Given the description of an element on the screen output the (x, y) to click on. 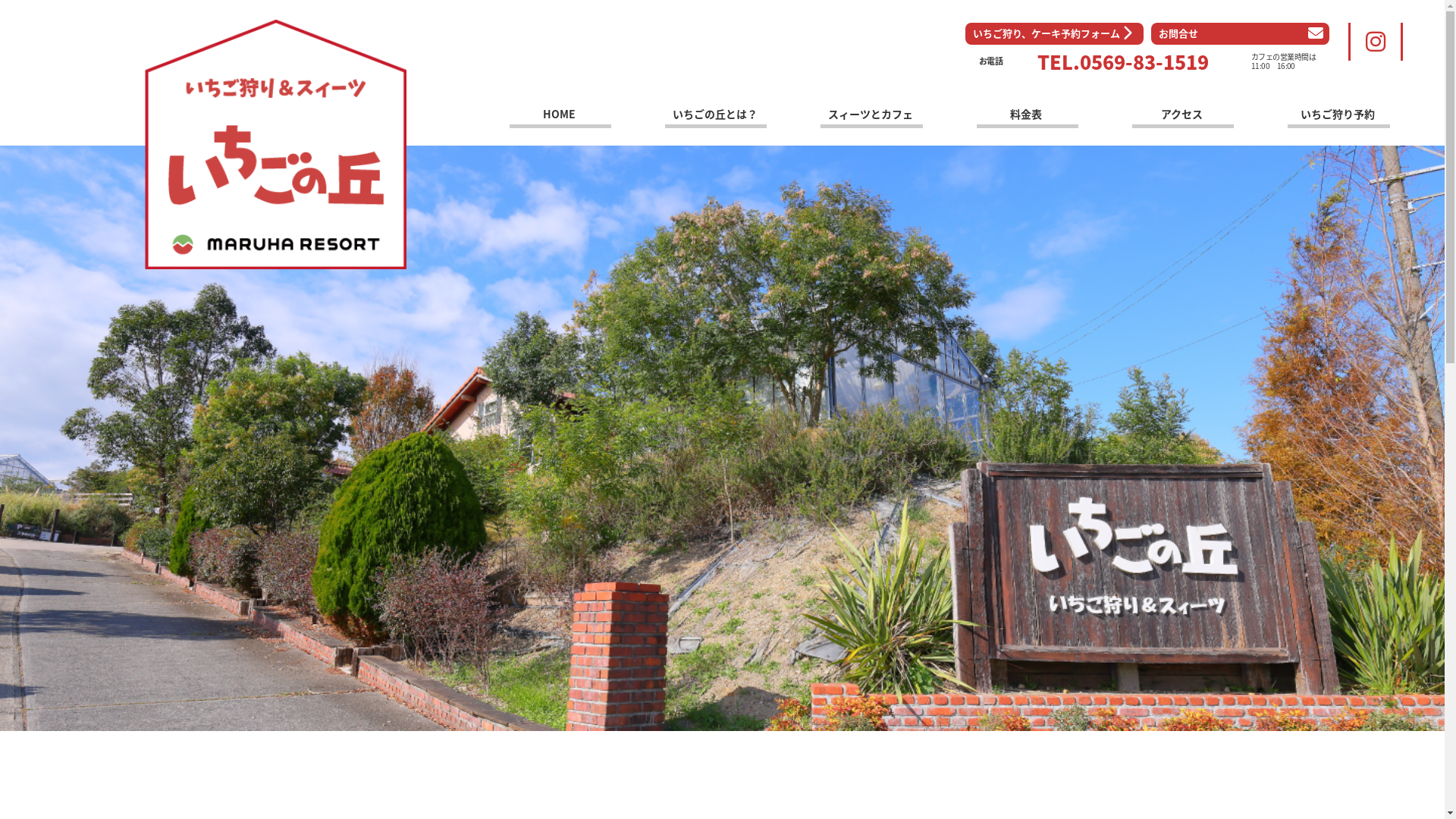
HOME Element type: text (559, 116)
